Given the description of an element on the screen output the (x, y) to click on. 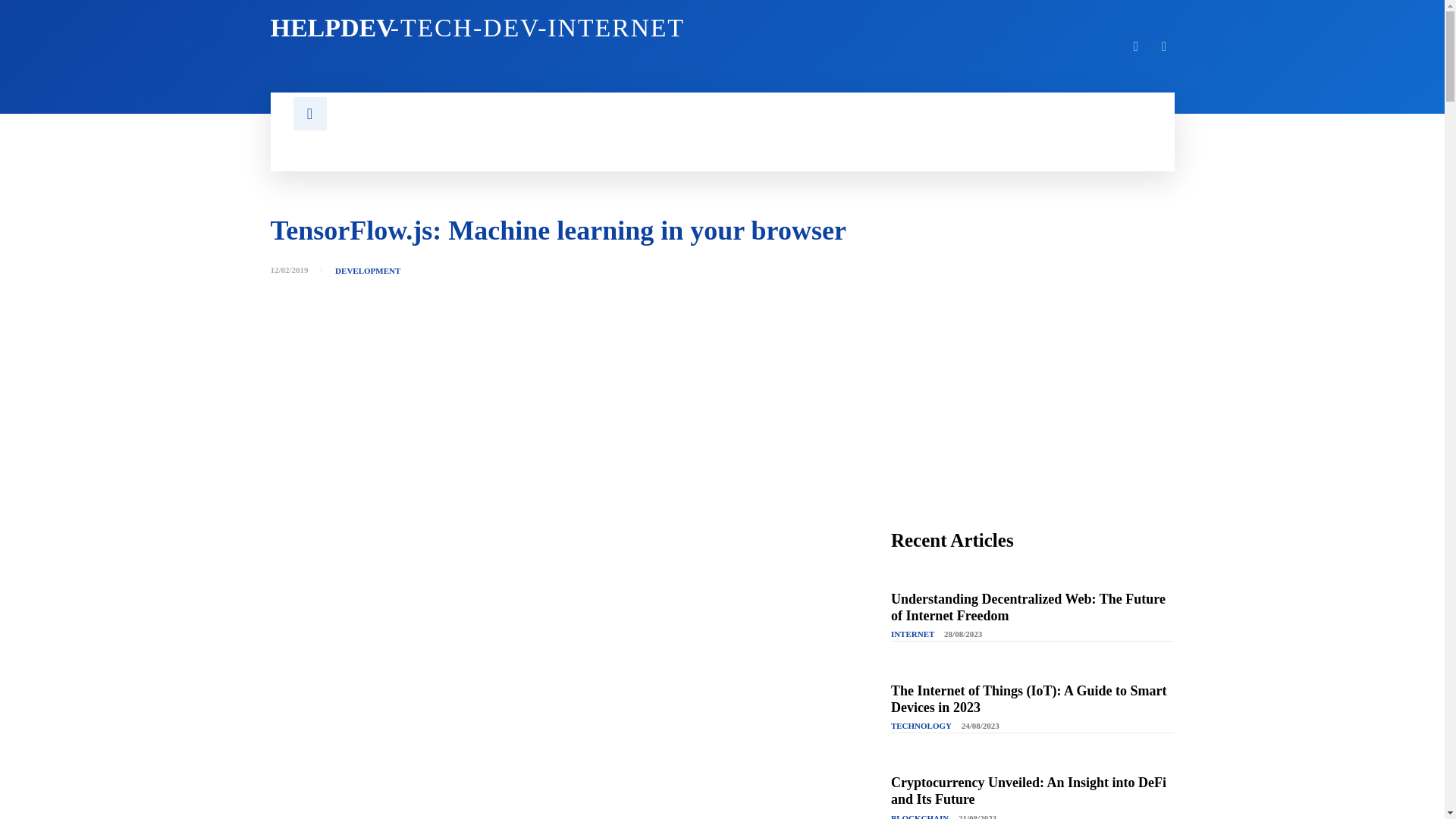
Twitter (1164, 46)
Facebook (486, 27)
DEVELOPMENT (1135, 46)
